Given the description of an element on the screen output the (x, y) to click on. 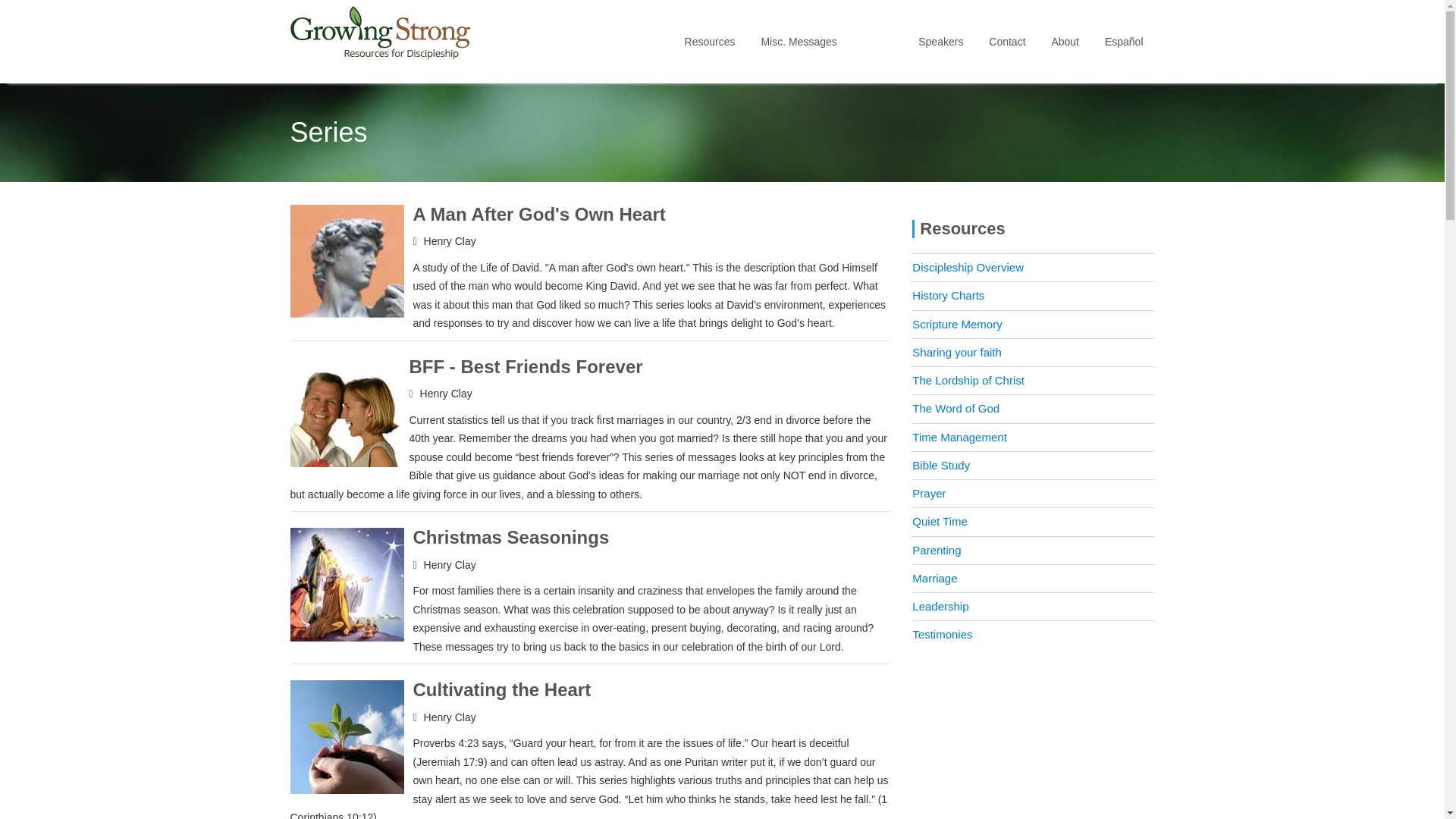
Henry Clay (445, 393)
BFF - Best Friends Forever (526, 366)
Misc. Messages (798, 41)
Henry Clay (449, 564)
Henry Clay (449, 717)
Cultivating the Heart (501, 689)
Christmas Seasonings (510, 537)
Henry Clay (449, 241)
A Man After God's Own Heart (538, 213)
